Given the description of an element on the screen output the (x, y) to click on. 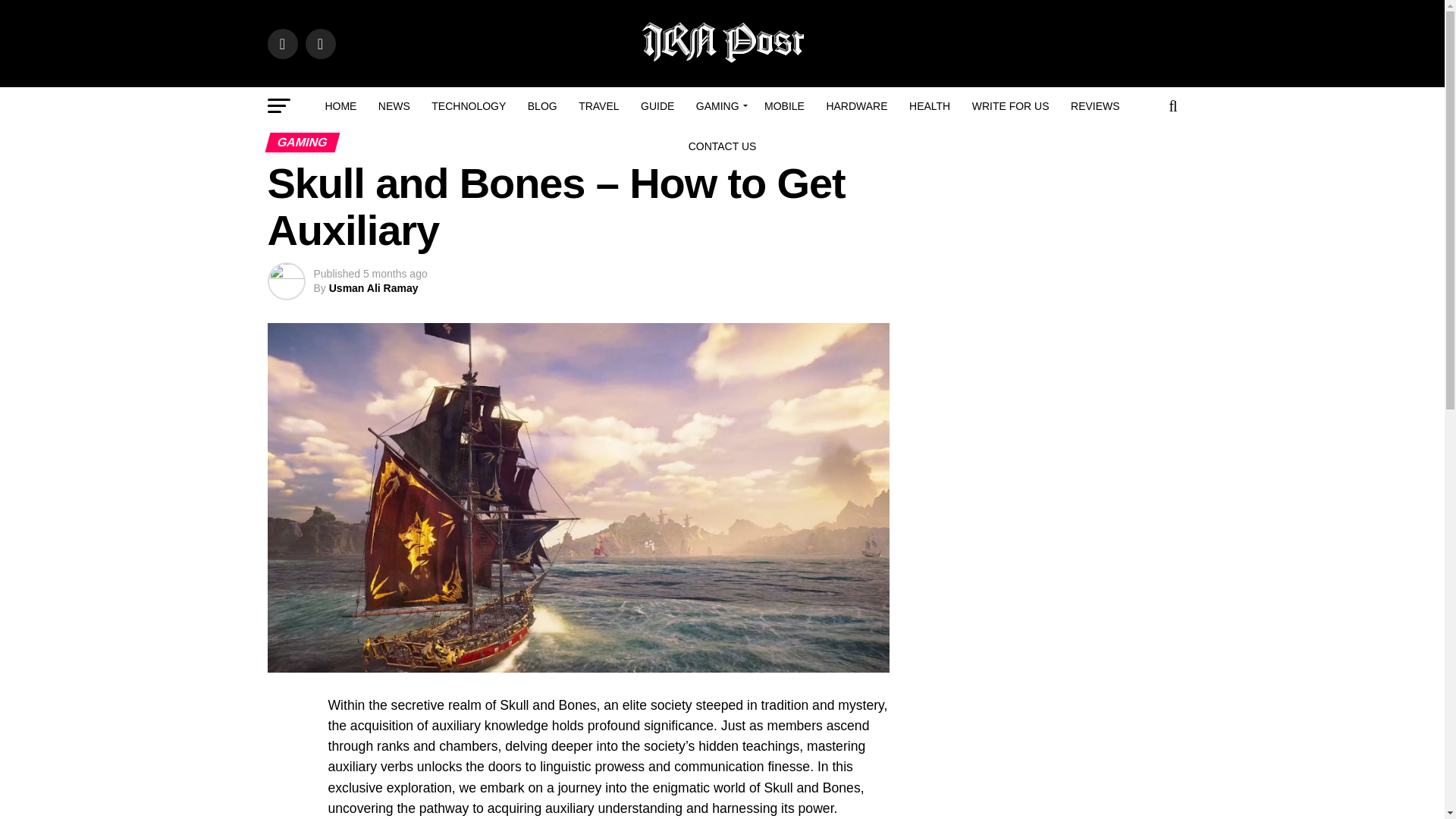
GUIDE (656, 105)
TRAVEL (598, 105)
TECHNOLOGY (468, 105)
GAMING (719, 105)
HOME (340, 105)
Posts by Usman Ali Ramay (374, 287)
NEWS (394, 105)
BLOG (542, 105)
